Given the description of an element on the screen output the (x, y) to click on. 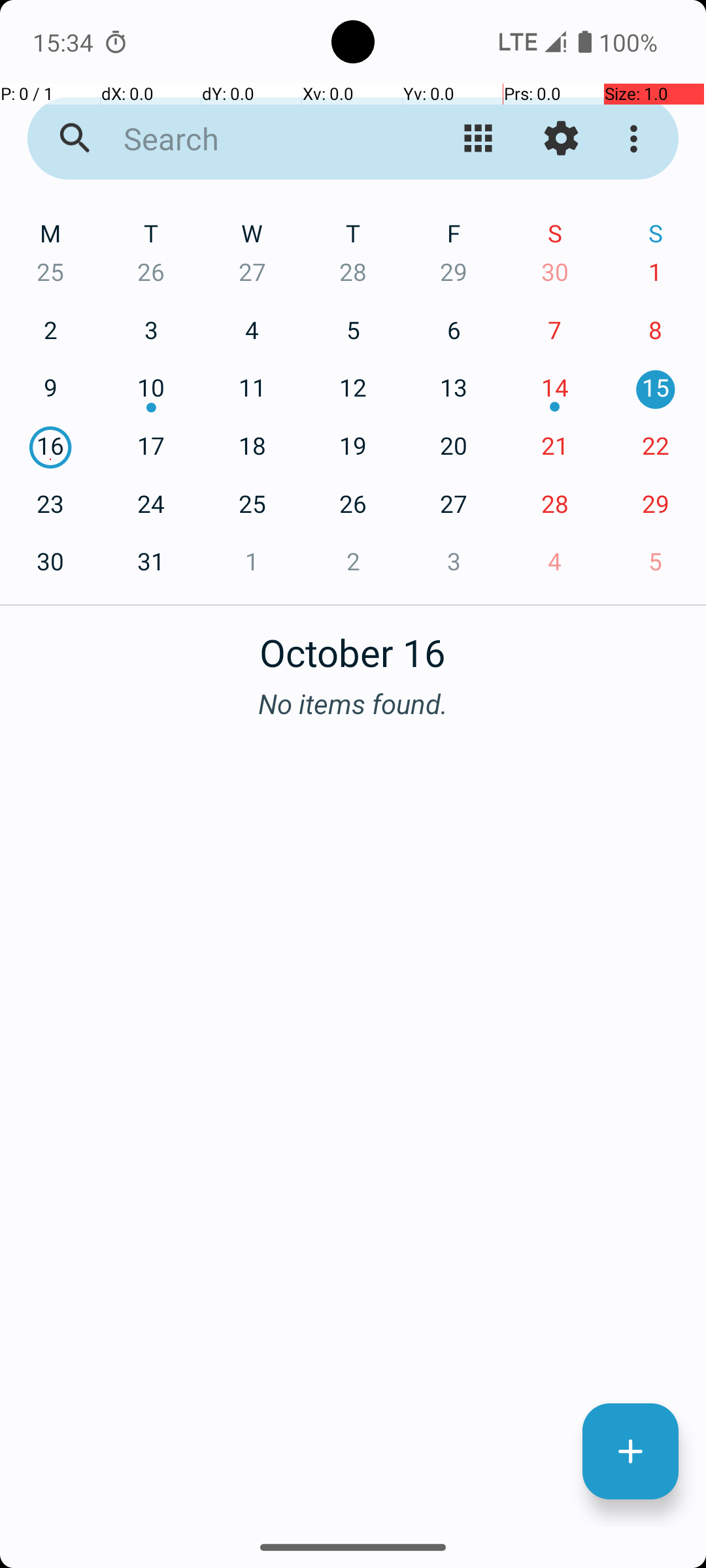
October 16 Element type: android.widget.TextView (352, 644)
